Given the description of an element on the screen output the (x, y) to click on. 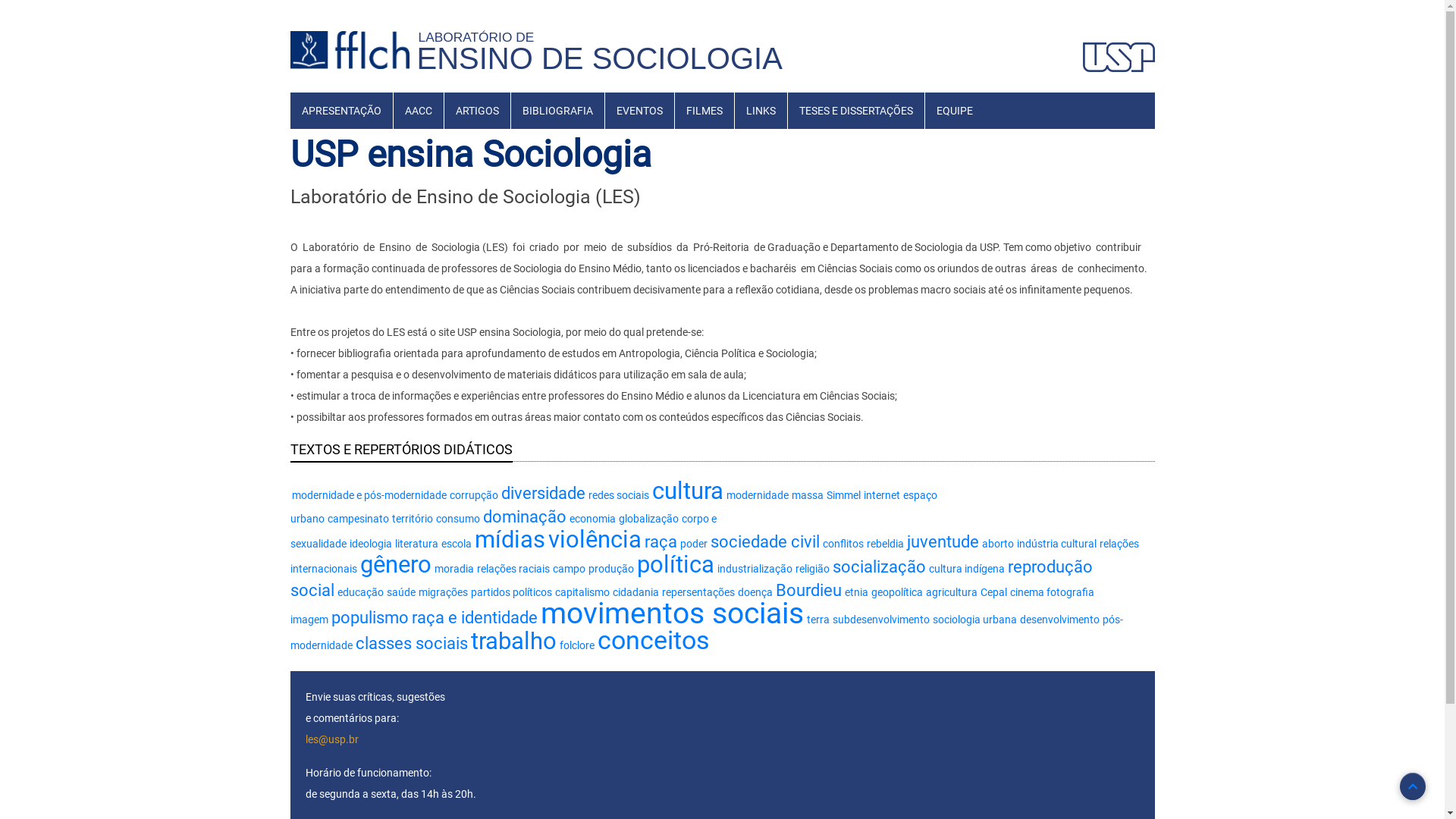
BIBLIOGRAFIA Element type: text (557, 110)
EQUIPE Element type: text (954, 110)
campo Element type: text (568, 568)
economia Element type: text (591, 518)
classes sociais Element type: text (410, 642)
internet Element type: text (880, 495)
Bourdieu Element type: text (807, 589)
ARTIGOS Element type: text (477, 110)
sociedade civil Element type: text (764, 541)
EVENTOS Element type: text (639, 110)
Simmel Element type: text (843, 495)
aborto Element type: text (997, 543)
Cepal Element type: text (992, 592)
poder Element type: text (692, 543)
consumo Element type: text (457, 518)
massa Element type: text (807, 495)
literatura Element type: text (415, 543)
corpo e sexualidade Element type: text (502, 530)
modernidade Element type: text (757, 495)
les@usp.br Element type: text (330, 739)
conceitos Element type: text (653, 640)
subdesenvolvimento Element type: text (880, 619)
ideologia Element type: text (369, 543)
agricultura Element type: text (950, 592)
Back to Top Element type: hover (1412, 786)
sociologia urbana Element type: text (974, 619)
trabalho Element type: text (512, 641)
ENSINO DE SOCIOLOGIA Element type: text (599, 58)
LINKS Element type: text (760, 110)
cidadania Element type: text (635, 592)
movimentos sociais Element type: text (671, 613)
diversidade Element type: text (542, 492)
cultura Element type: text (687, 490)
capitalismo Element type: text (582, 592)
terra Element type: text (817, 619)
rebeldia Element type: text (884, 543)
conflitos Element type: text (842, 543)
FILMES Element type: text (704, 110)
moradia Element type: text (453, 568)
populismo Element type: text (368, 617)
desenvolvimento Element type: text (1058, 619)
folclore Element type: text (576, 645)
escola Element type: text (456, 543)
etnia Element type: text (856, 592)
redes sociais Element type: text (618, 495)
AACC Element type: text (417, 110)
cinema fotografia imagem Element type: text (691, 605)
juventude Element type: text (942, 541)
campesinato Element type: text (358, 518)
